Given the description of an element on the screen output the (x, y) to click on. 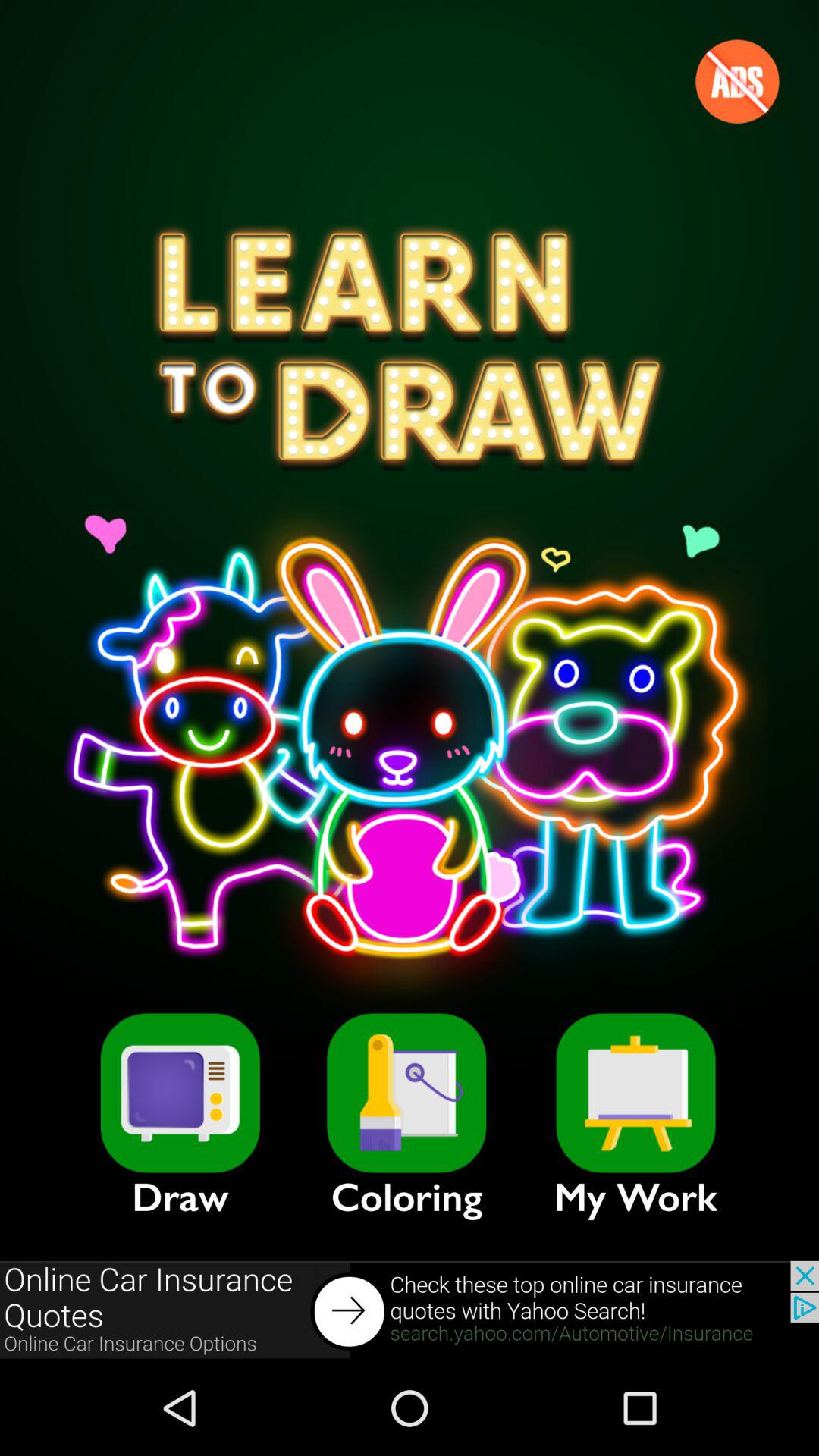
goes to coloring mode (406, 1092)
